Given the description of an element on the screen output the (x, y) to click on. 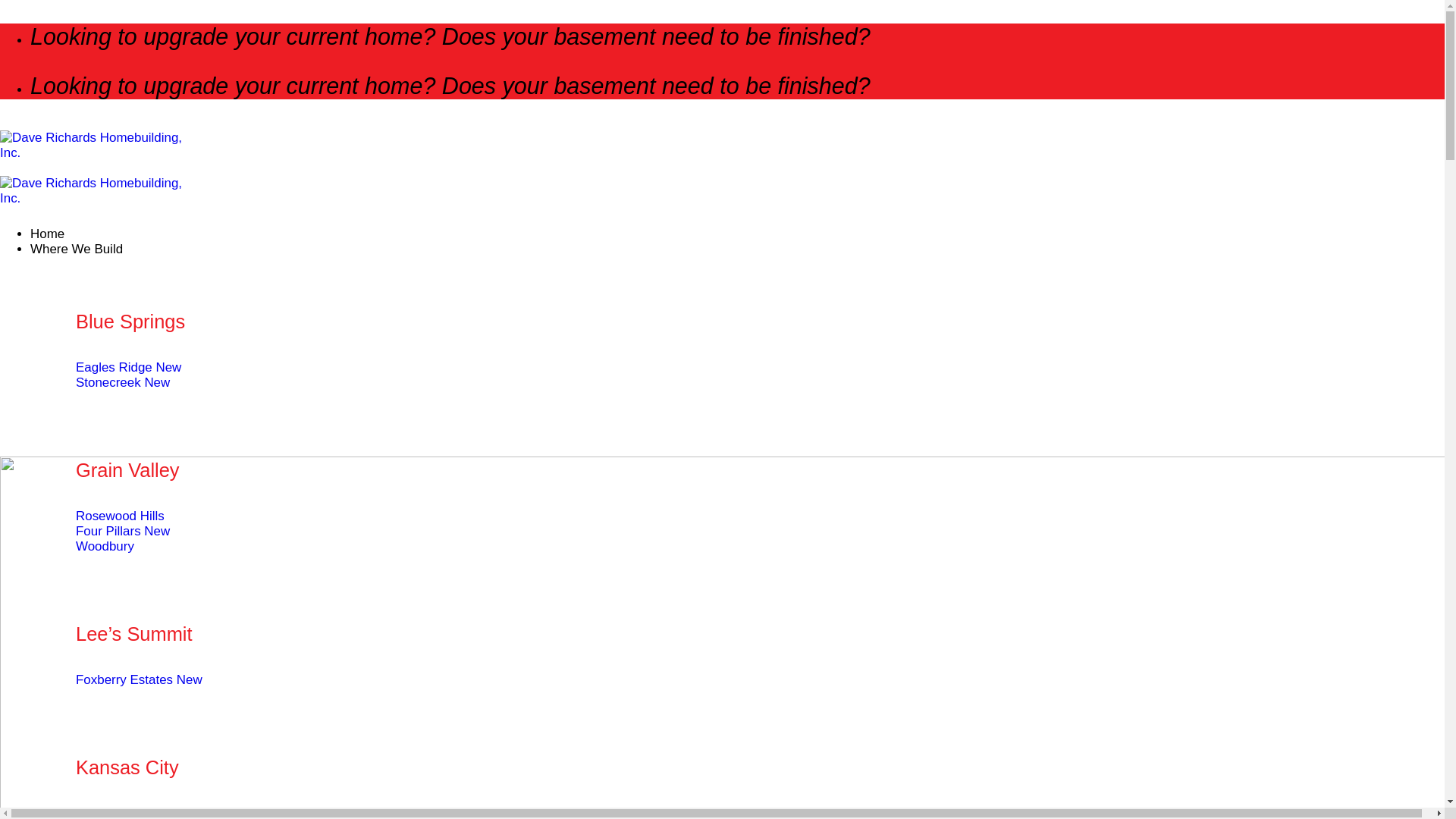
Dave Richards Homebuilding, Inc. - Kansas City Custom Homes (94, 175)
Villa Meadows (131, 812)
Rosewood Hills (119, 515)
Four Pillars (122, 531)
Woodbury (104, 545)
Foxberry Estates (138, 679)
Home (47, 233)
Eagles Ridge (127, 367)
Where We Build (76, 247)
Stonecreek (122, 382)
